Given the description of an element on the screen output the (x, y) to click on. 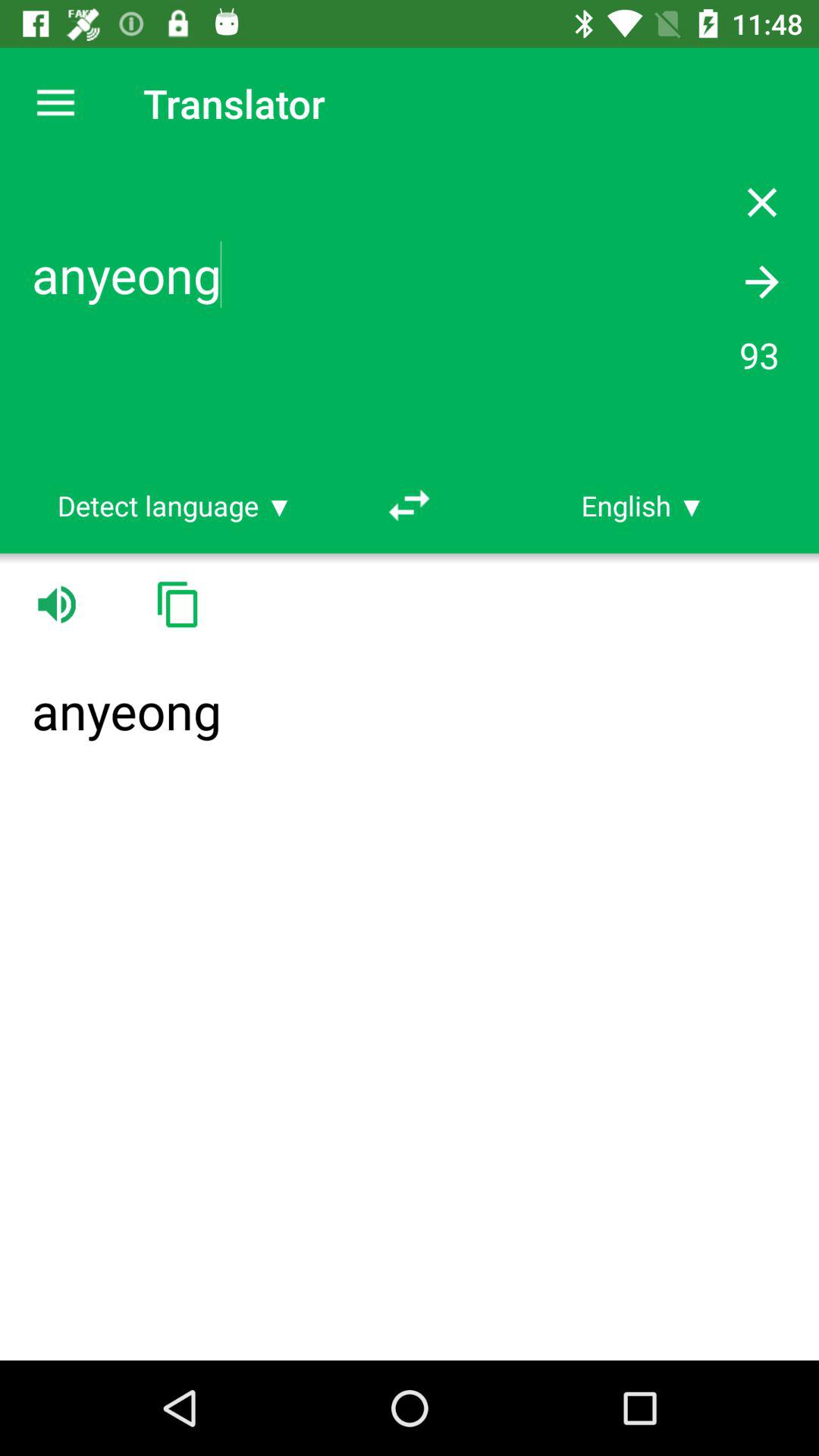
tap the icon to the left of the translator (55, 103)
